Given the description of an element on the screen output the (x, y) to click on. 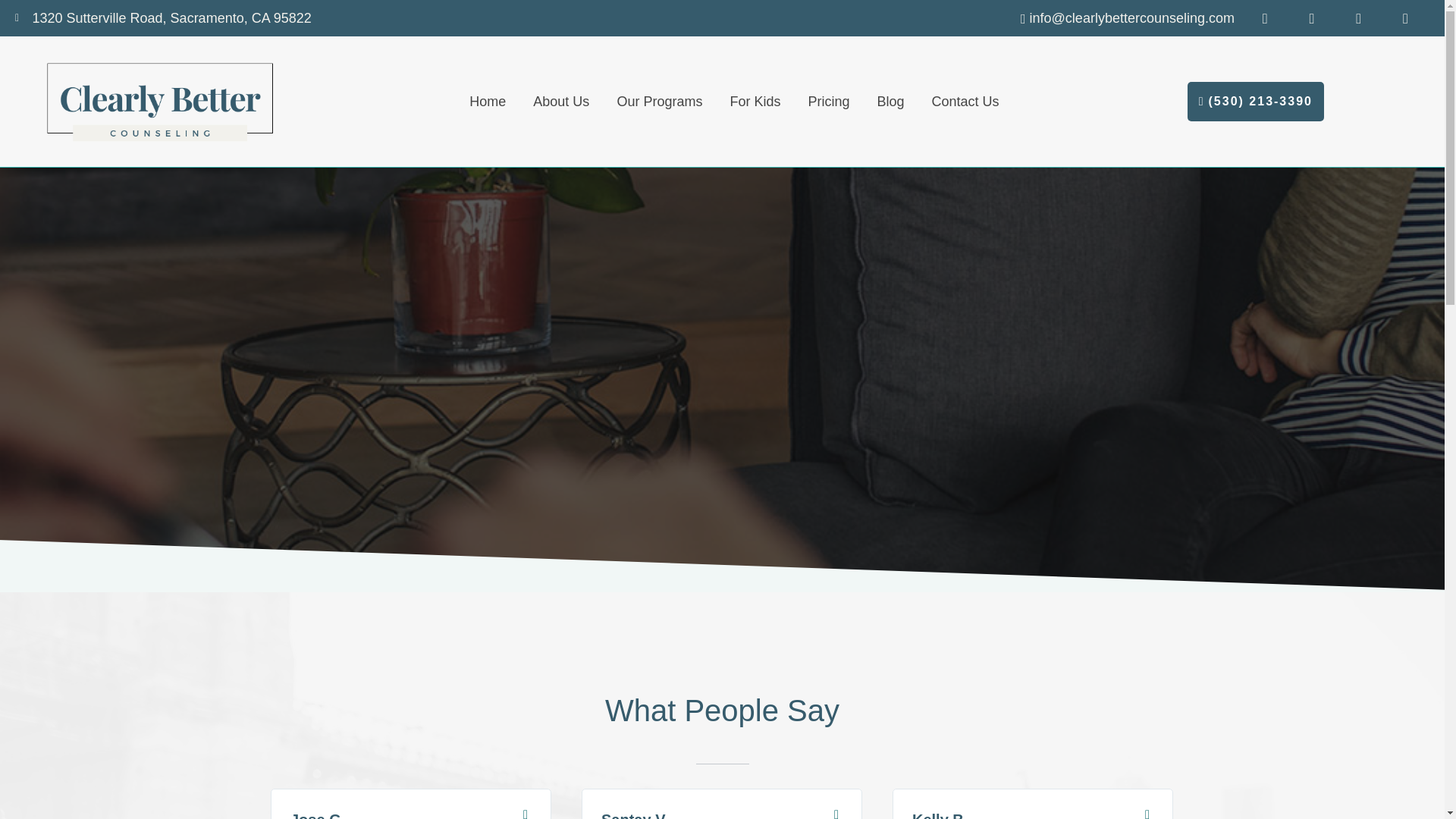
Home (487, 101)
Contact Us (964, 101)
About Us (560, 101)
Pricing (828, 101)
Blog (890, 101)
Our Programs (659, 101)
For Kids (754, 101)
